Given the description of an element on the screen output the (x, y) to click on. 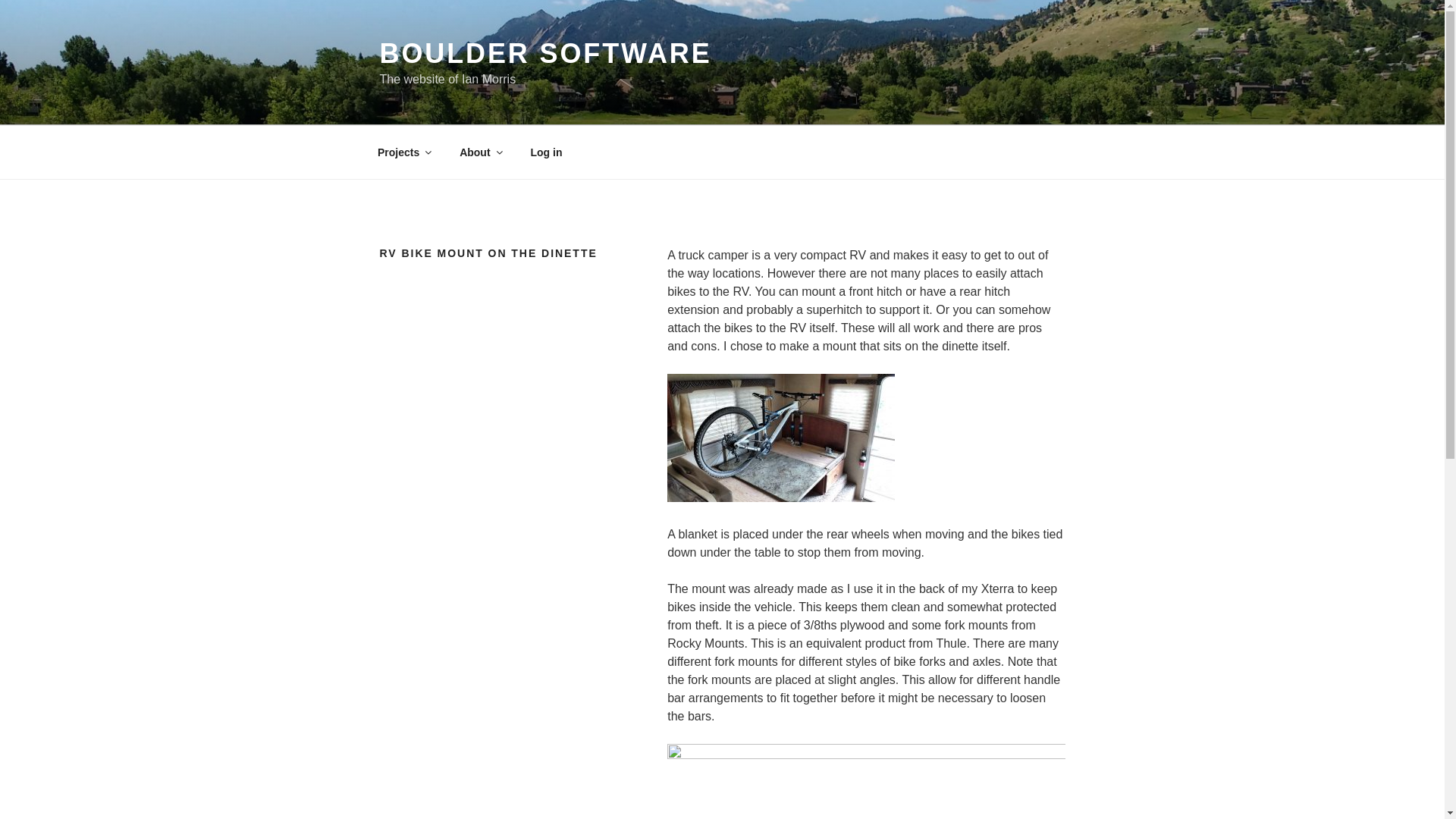
About (479, 151)
BOULDER SOFTWARE (544, 52)
Log in (545, 151)
Projects (403, 151)
